Given the description of an element on the screen output the (x, y) to click on. 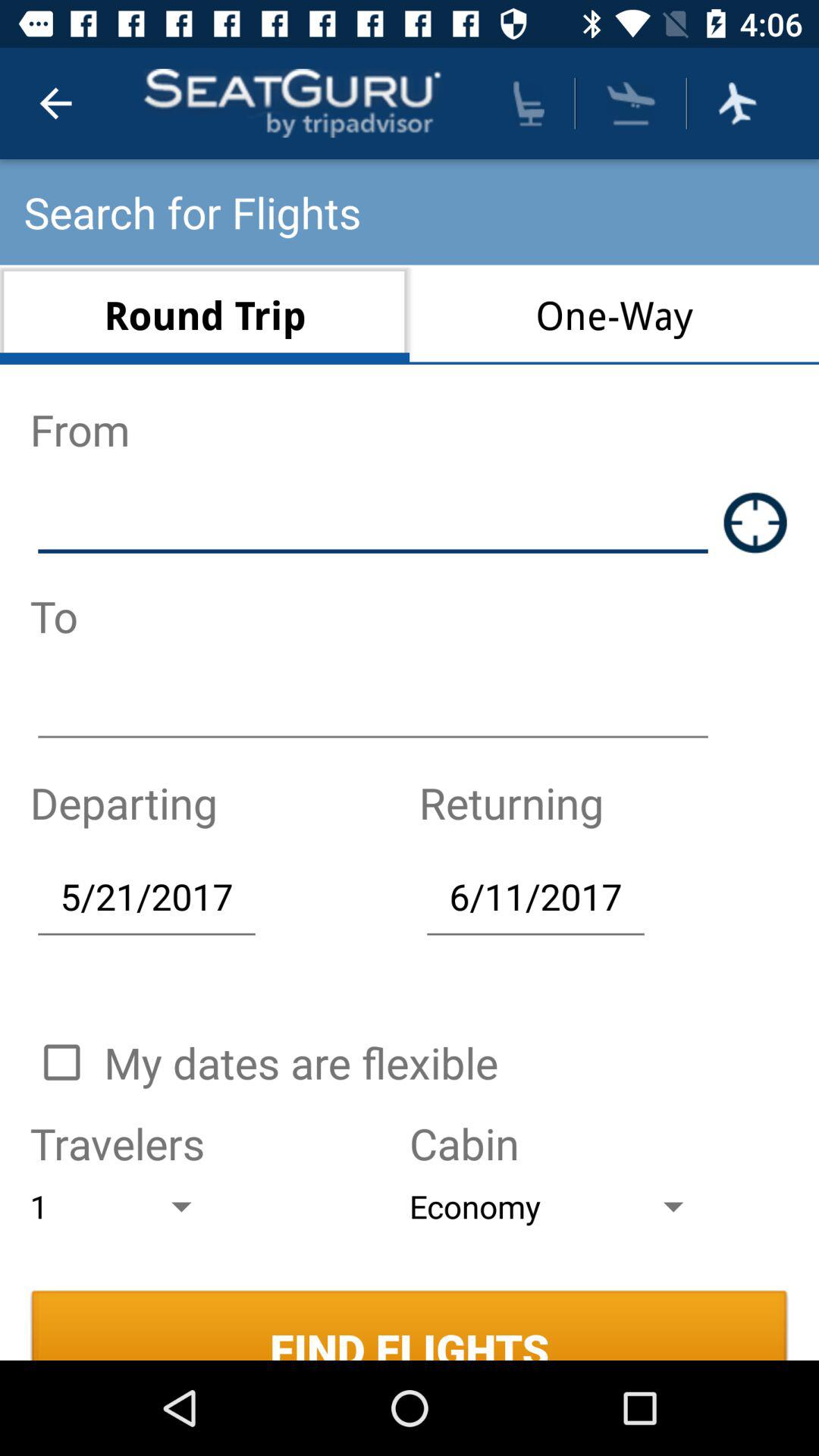
landing flights (630, 103)
